Given the description of an element on the screen output the (x, y) to click on. 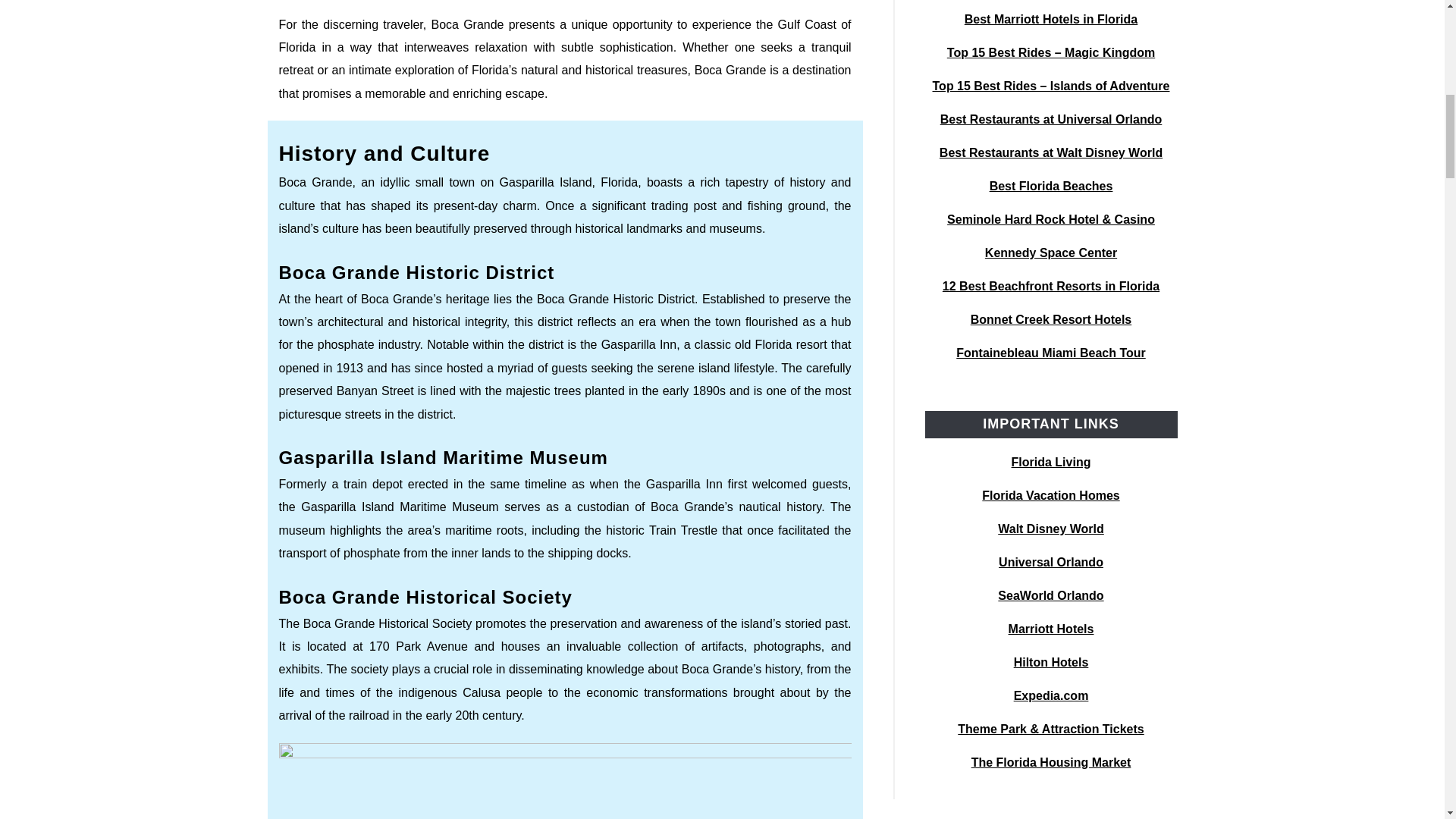
Florida Living (1050, 461)
12 Best Beachfront Resorts in Florida (1050, 286)
SeaWorld Orlando (1050, 594)
Fontainebleau Miami Beach Tour (1050, 352)
Hilton Hotels (1051, 662)
Florida Vacation Homes (1050, 495)
Bonnet Creek Resort Hotels (1051, 318)
Best Florida Beaches (1051, 185)
The Florida Housing Market (1051, 762)
Walt Disney World (1050, 528)
Best Restaurants at Walt Disney World (1050, 152)
Best Marriott Hotels in Florida (1050, 19)
Marriott Hotels (1051, 628)
Kennedy Space Center (1050, 252)
Universal Orlando (1050, 562)
